Given the description of an element on the screen output the (x, y) to click on. 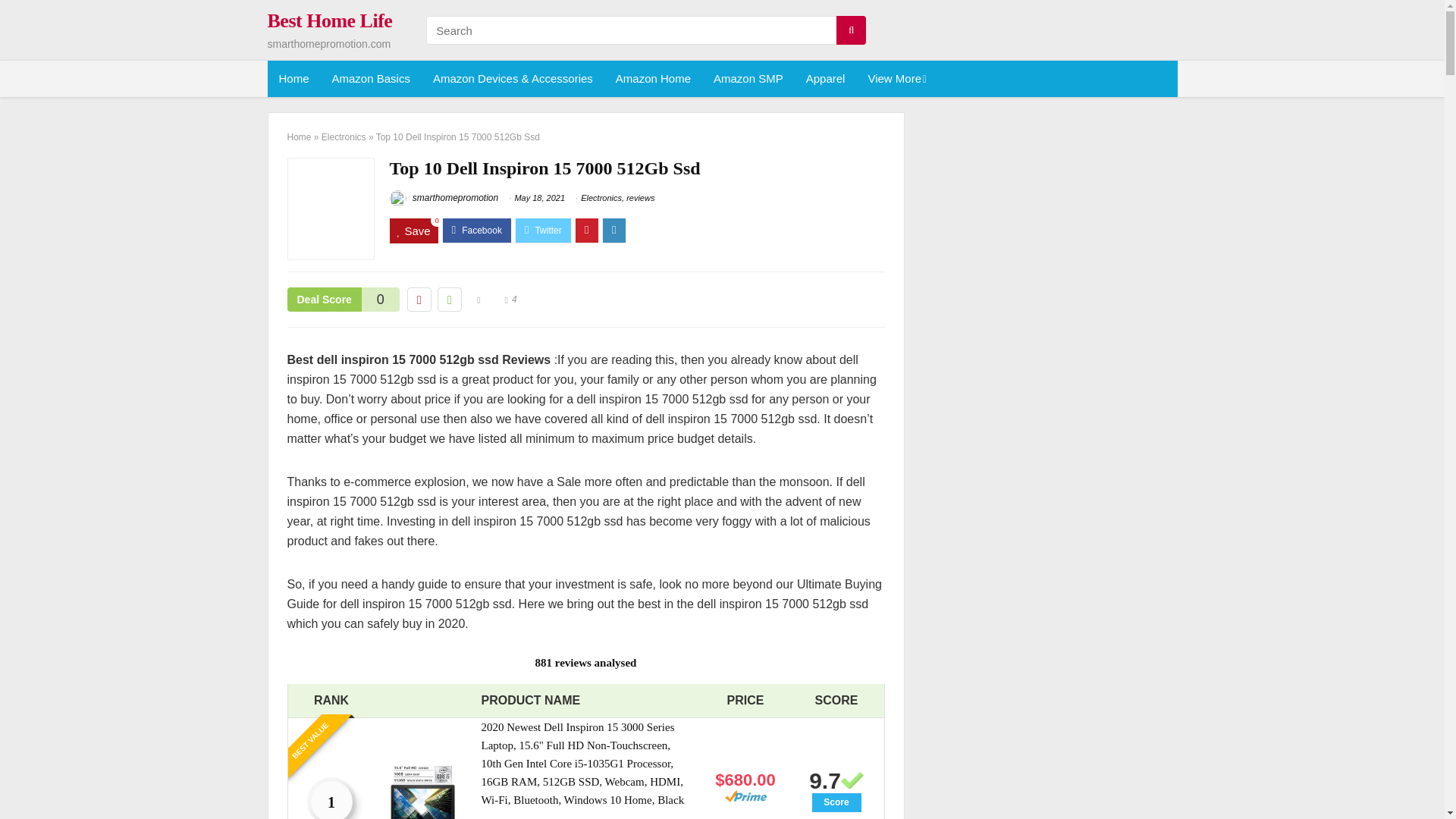
View all posts in reviews (639, 197)
Amazon Home (652, 78)
View all posts in Electronics (600, 197)
View More (895, 78)
Home (293, 78)
Vote down (418, 299)
Amazon Basics (371, 78)
Apparel (825, 78)
Amazon SMP (747, 78)
